Given the description of an element on the screen output the (x, y) to click on. 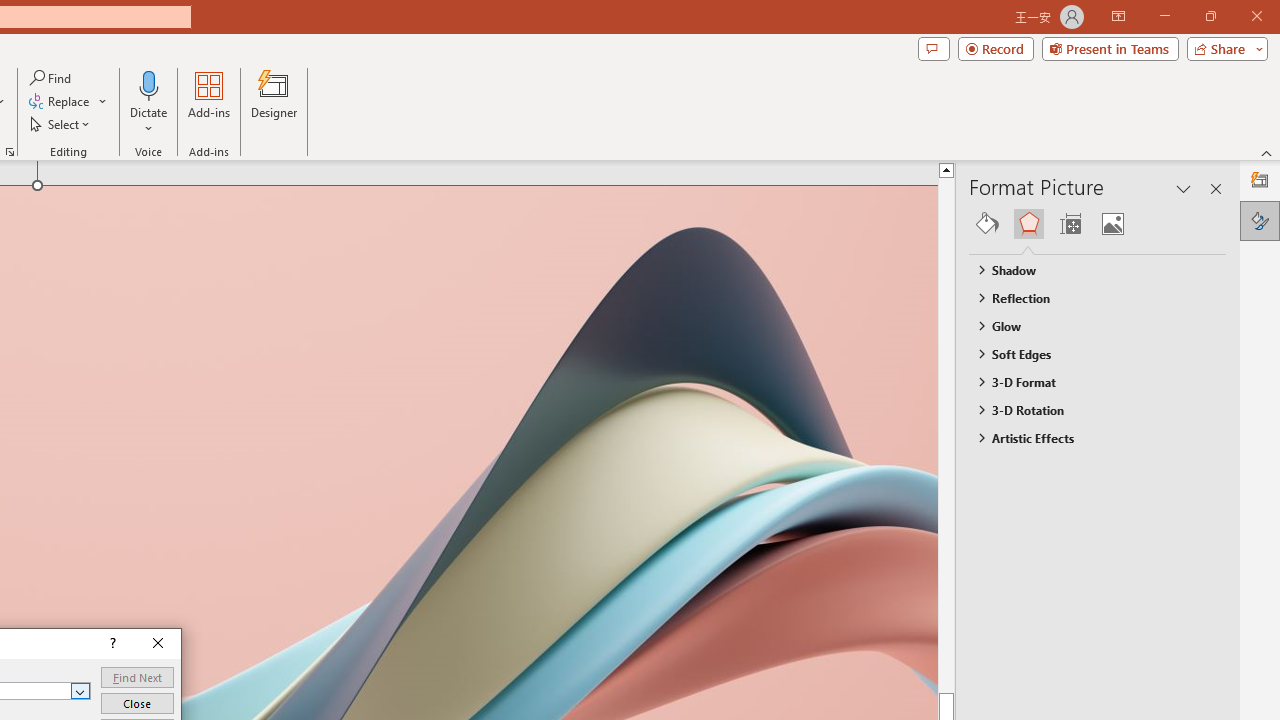
Context help (111, 643)
Fill & Line (987, 223)
3-D Format (1088, 381)
